Given the description of an element on the screen output the (x, y) to click on. 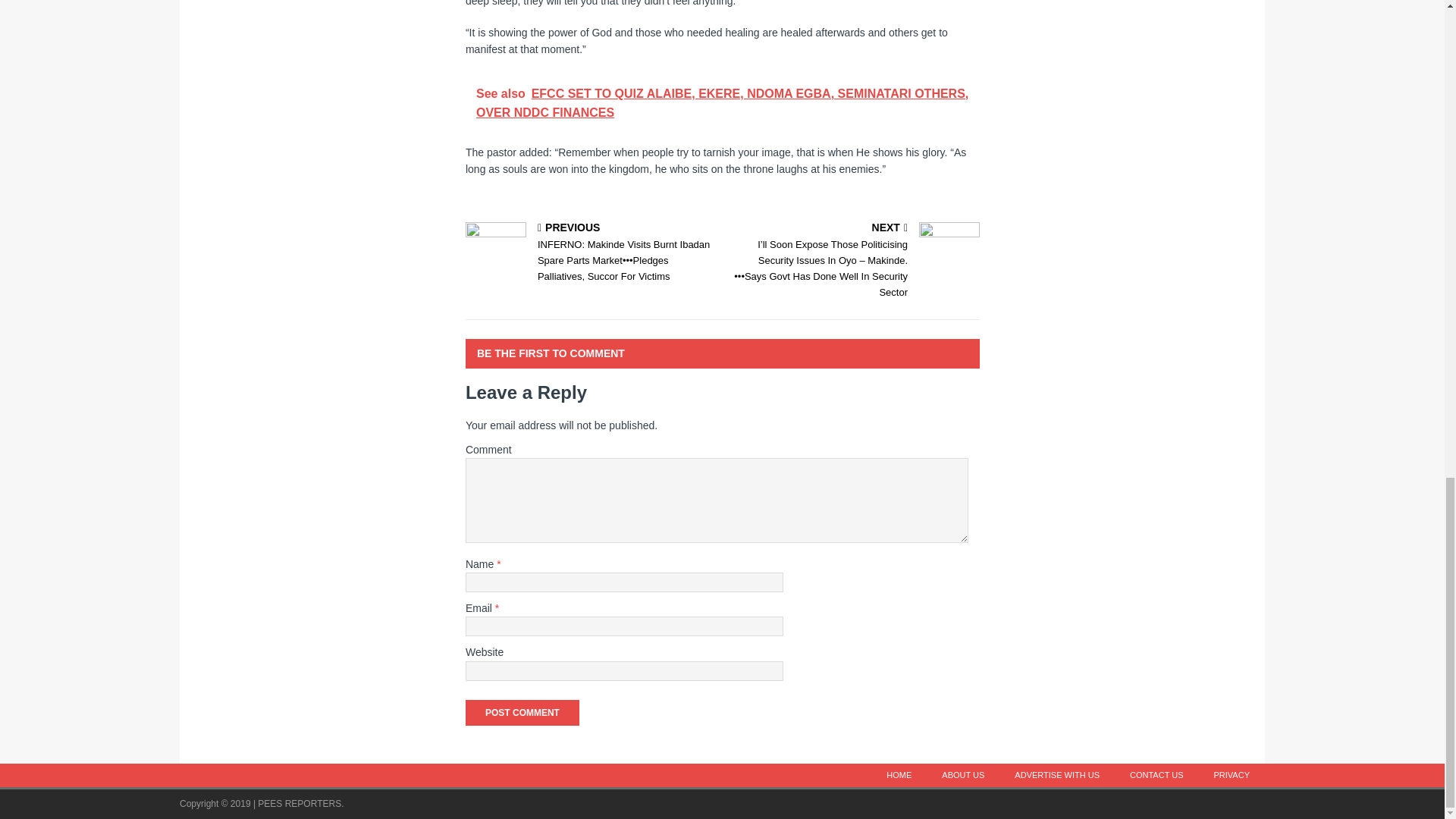
Post Comment (522, 712)
Post Comment (522, 712)
